Given the description of an element on the screen output the (x, y) to click on. 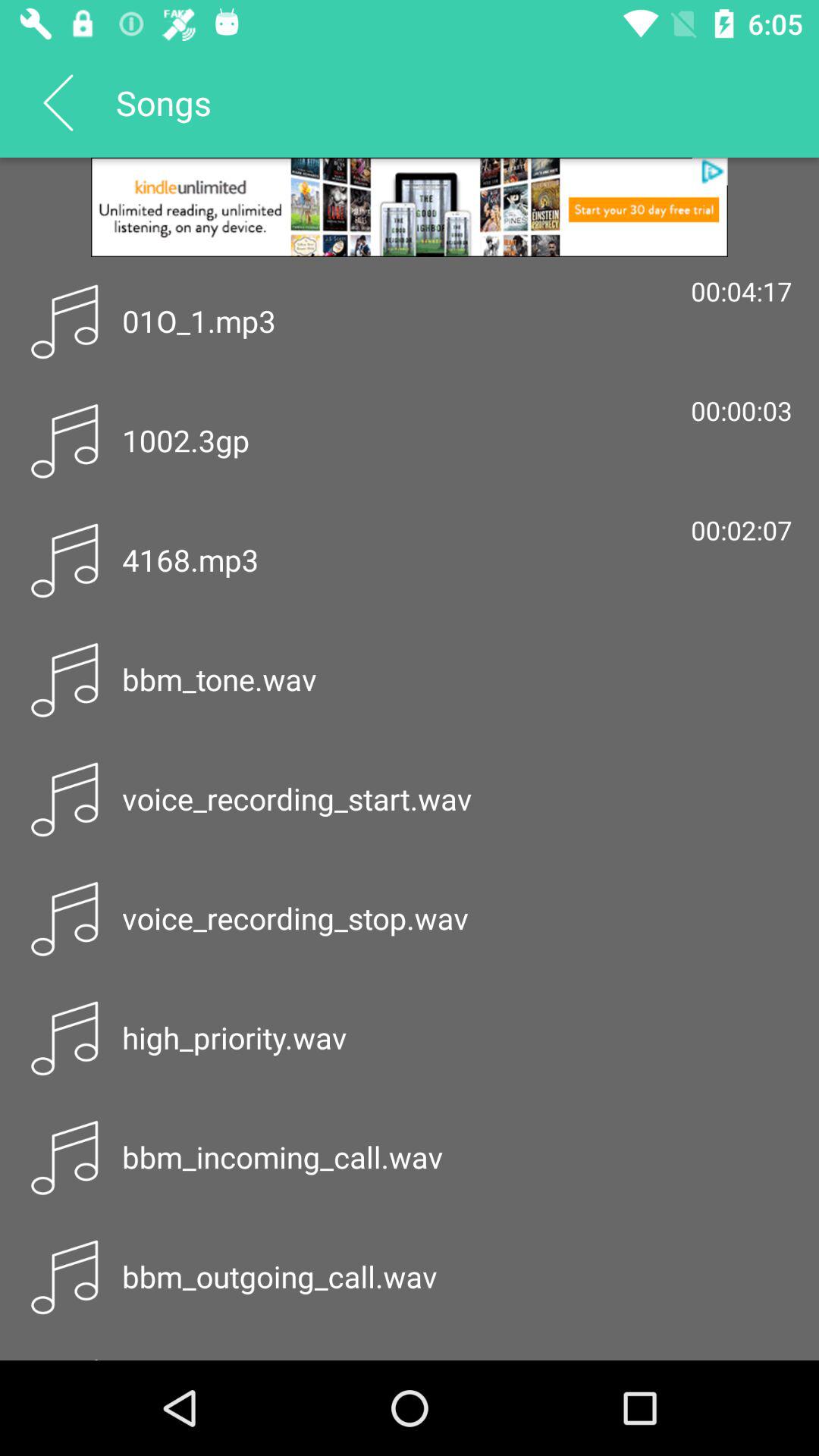
prevoius buttton (57, 102)
